Given the description of an element on the screen output the (x, y) to click on. 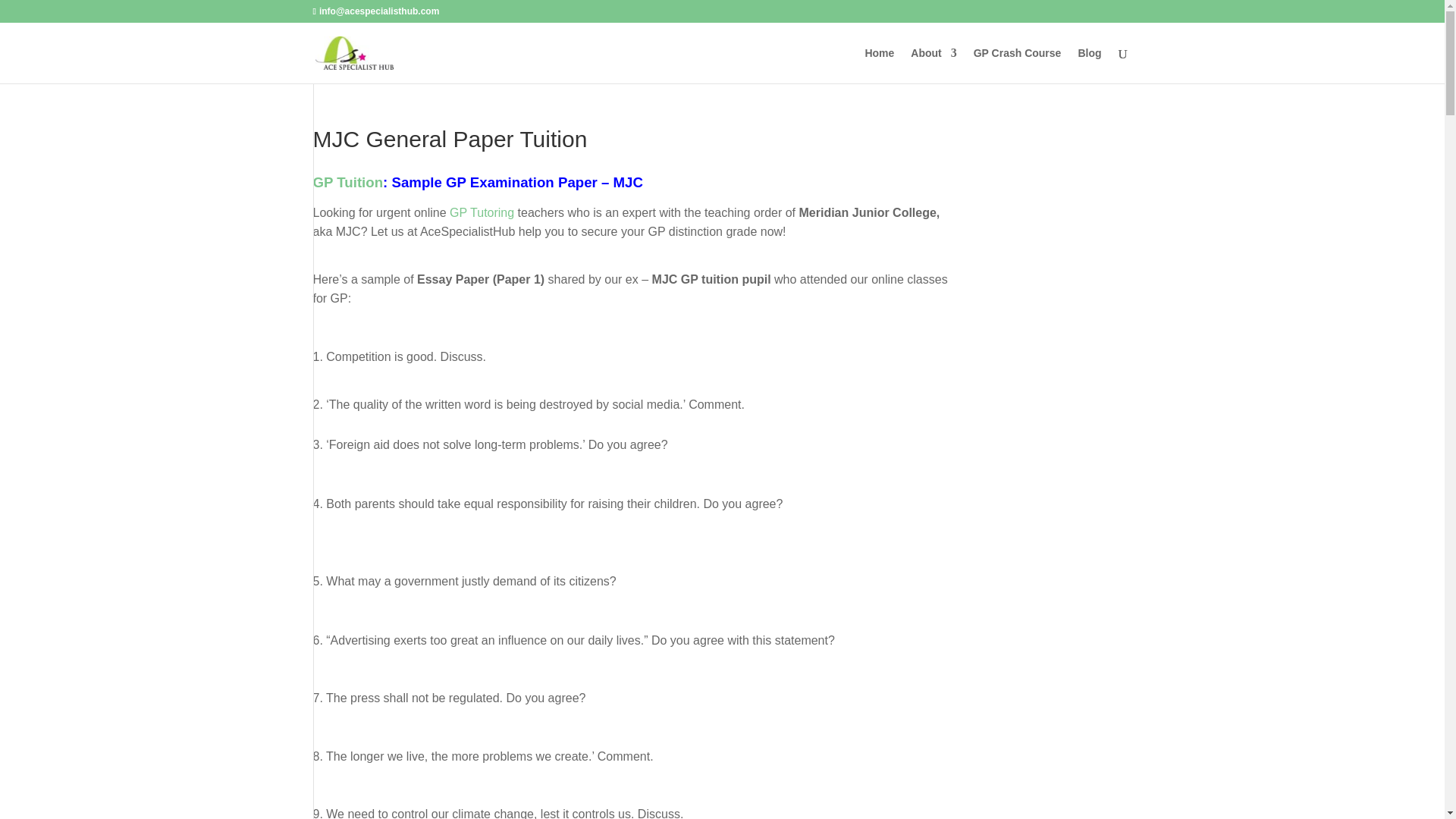
GP Tuition (347, 182)
GP Crash Course (1017, 65)
About (933, 65)
GP Tutoring (481, 212)
